Given the description of an element on the screen output the (x, y) to click on. 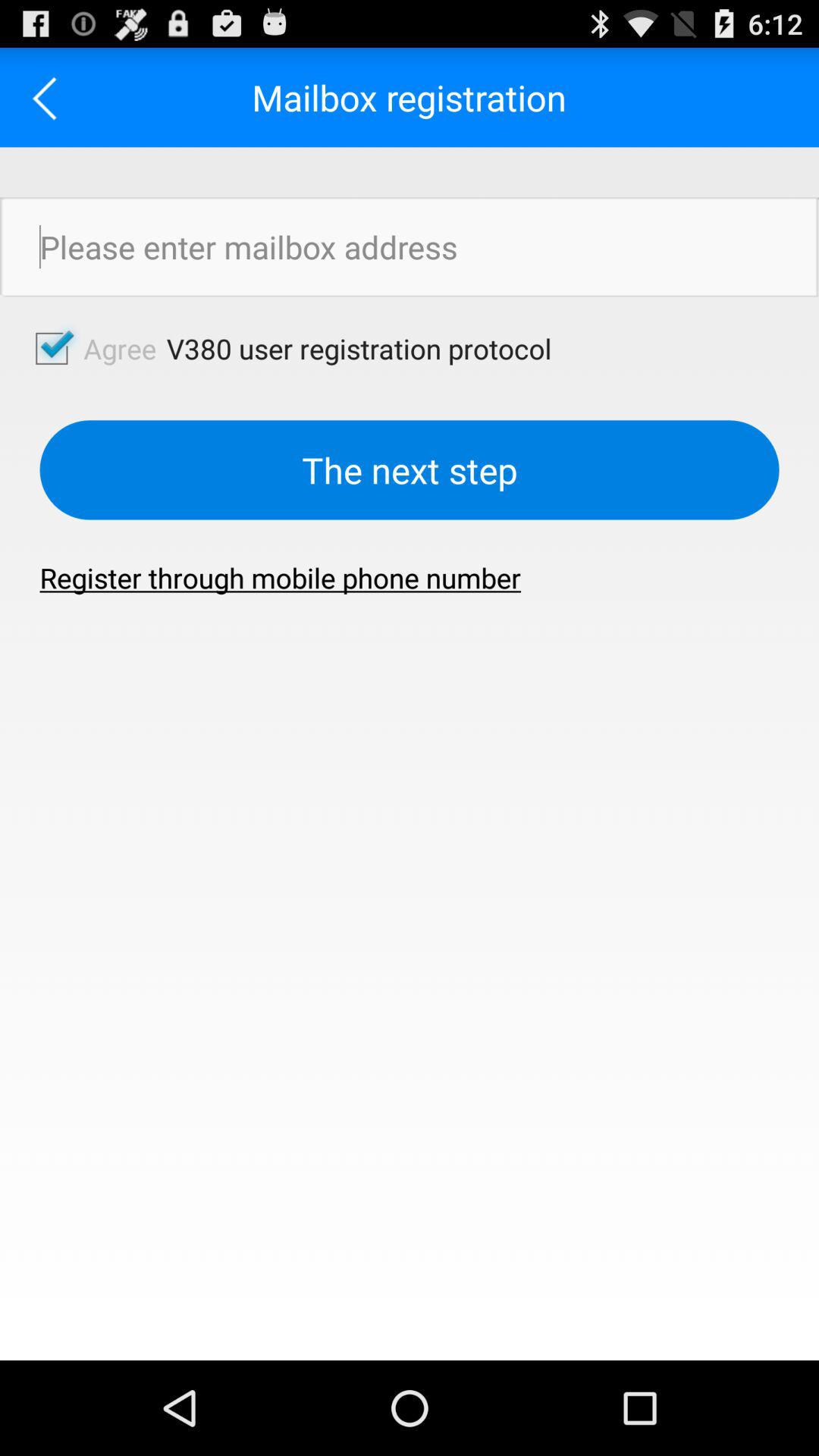
turn off the the next step button (409, 469)
